Given the description of an element on the screen output the (x, y) to click on. 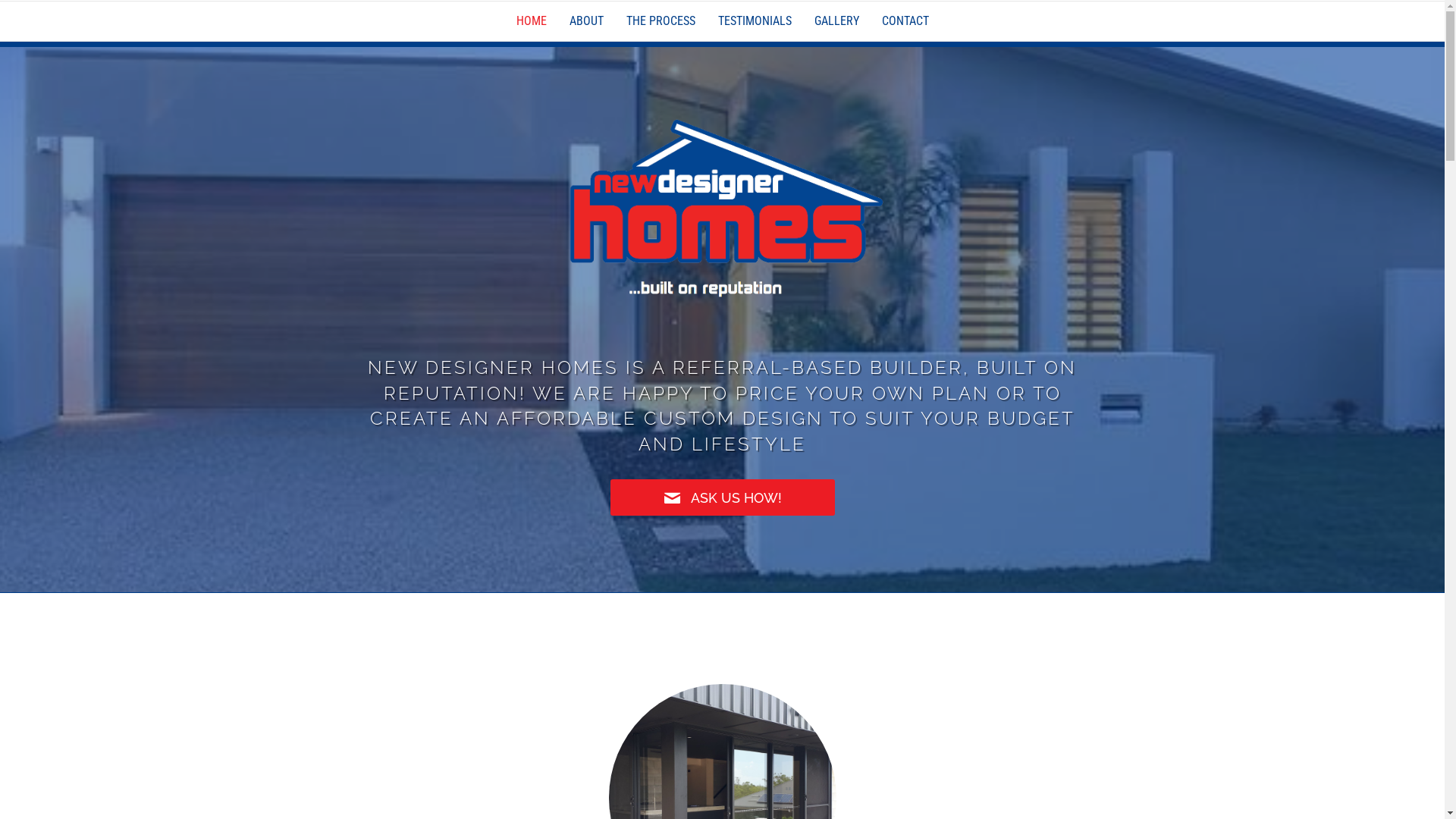
ABOUT Element type: text (586, 20)
GALLERY Element type: text (835, 20)
THE PROCESS Element type: text (659, 20)
ASK US HOW! Element type: text (722, 497)
CONTACT Element type: text (905, 20)
HOME Element type: text (531, 20)
built-on-reputation_1029_v2 Element type: hover (722, 206)
TESTIMONIALS Element type: text (754, 20)
